Given the description of an element on the screen output the (x, y) to click on. 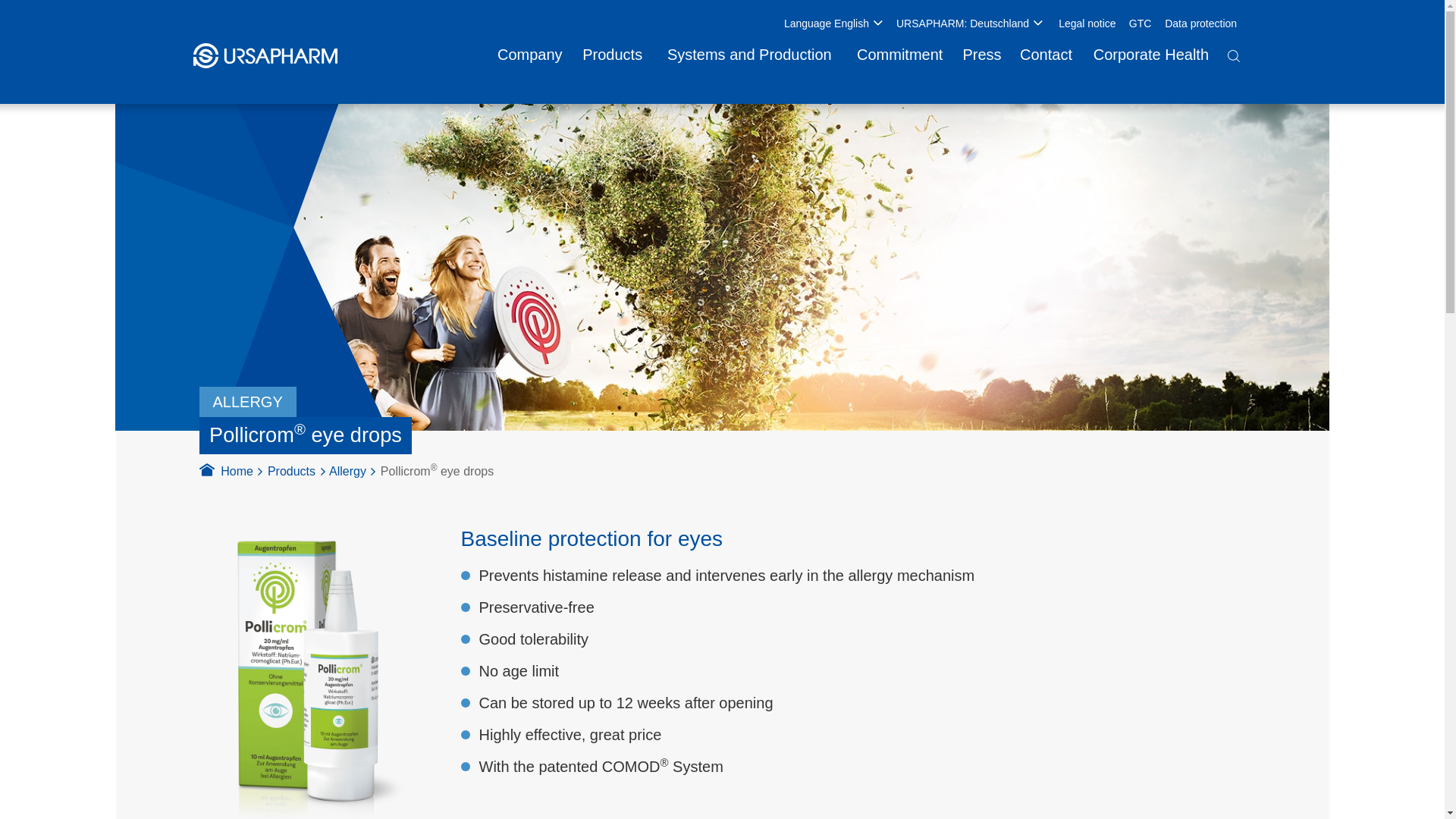
Legal notice (1087, 23)
Company (529, 54)
Data protection (1200, 23)
GTC (1140, 23)
